Given the description of an element on the screen output the (x, y) to click on. 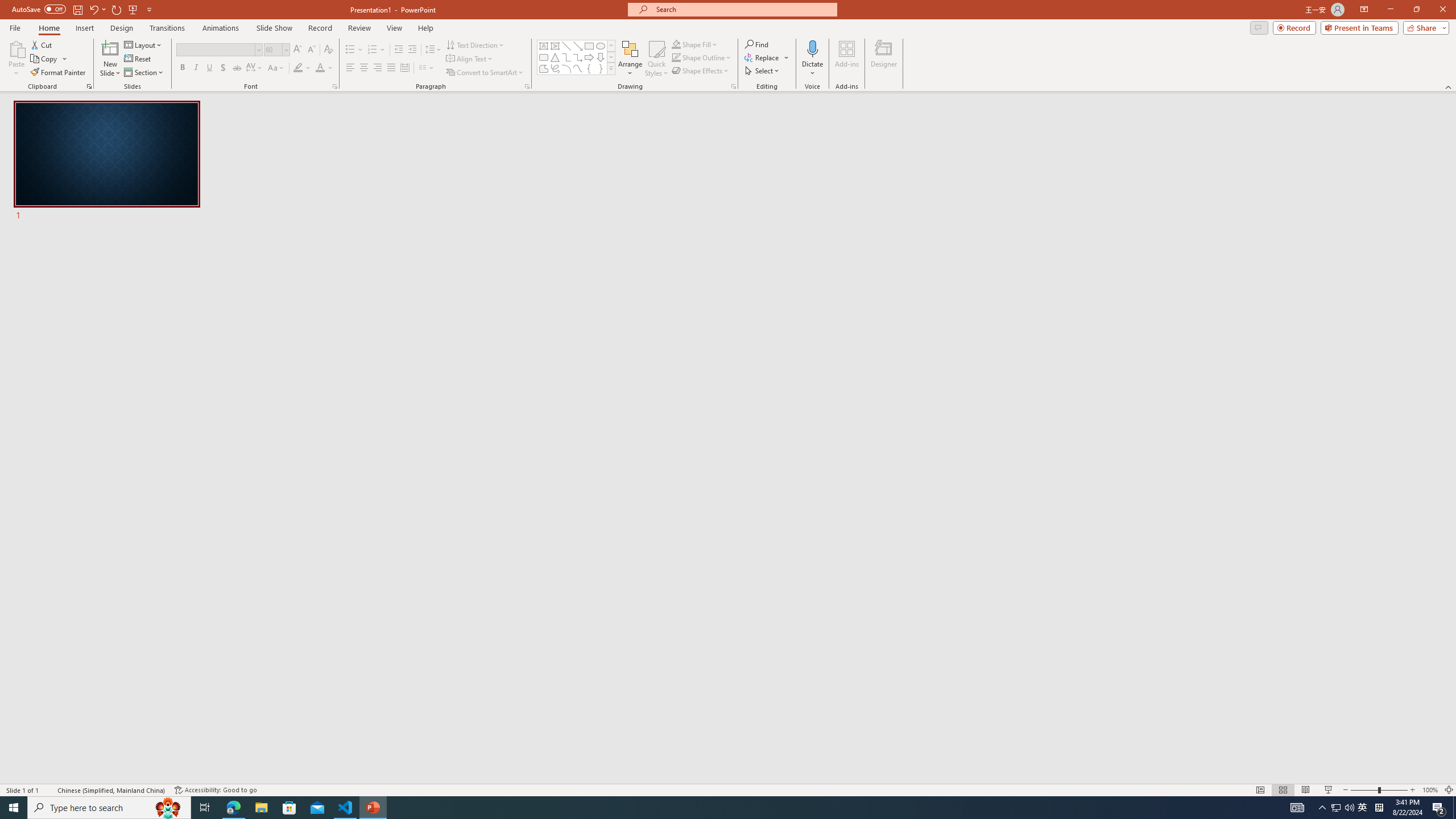
Quick Styles (656, 58)
Dictate (812, 58)
Dictate (812, 48)
Class: NetUIImage (610, 68)
Paste (16, 48)
Character Spacing (254, 67)
Font Size (276, 49)
Select (762, 69)
Office Clipboard... (88, 85)
